Given the description of an element on the screen output the (x, y) to click on. 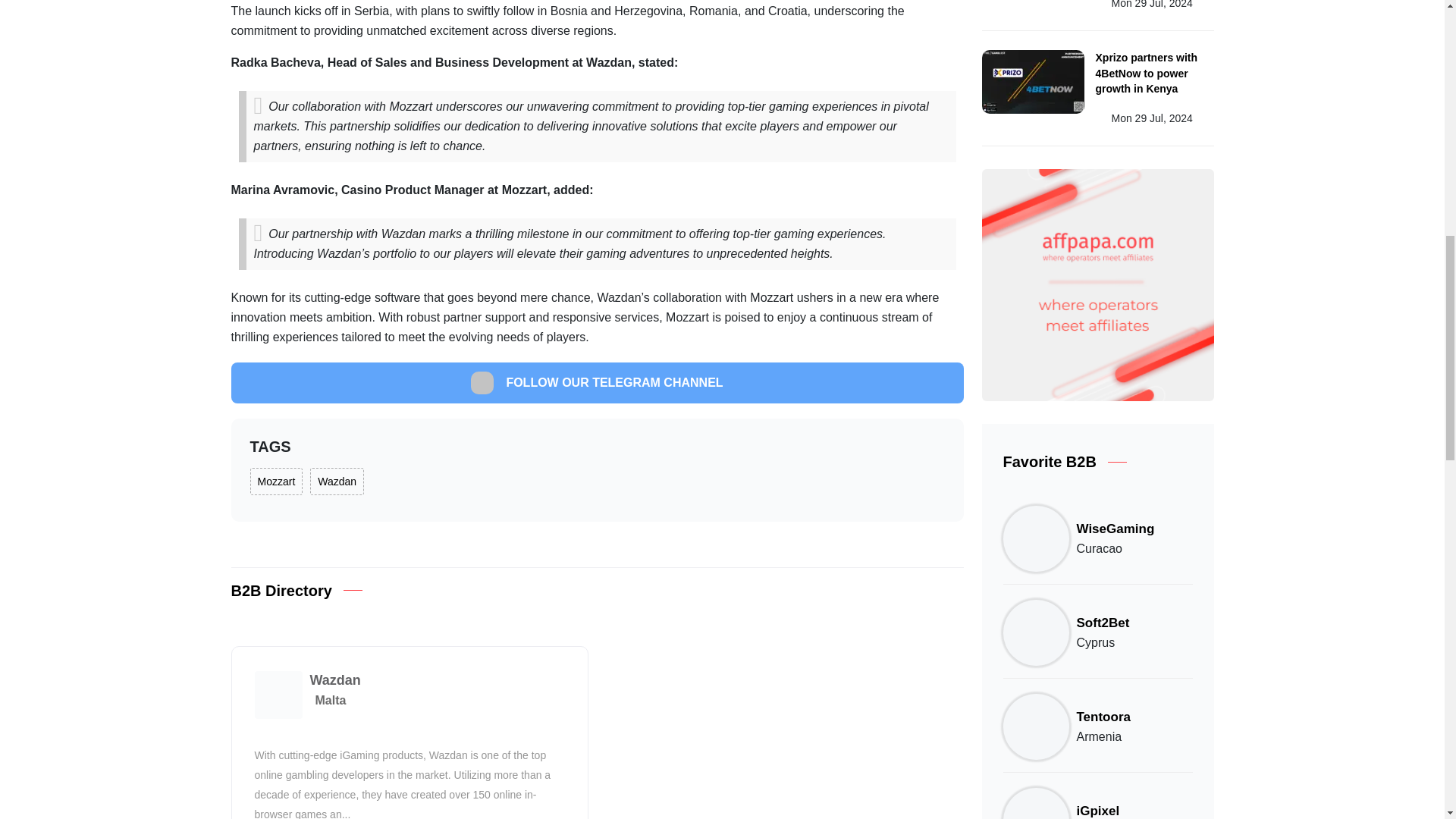
FOLLOW OUR TELEGRAM CHANNEL (596, 382)
Mozzart (276, 481)
B2B Directory (280, 590)
Wazdan (337, 481)
Wazdan (333, 679)
